Given the description of an element on the screen output the (x, y) to click on. 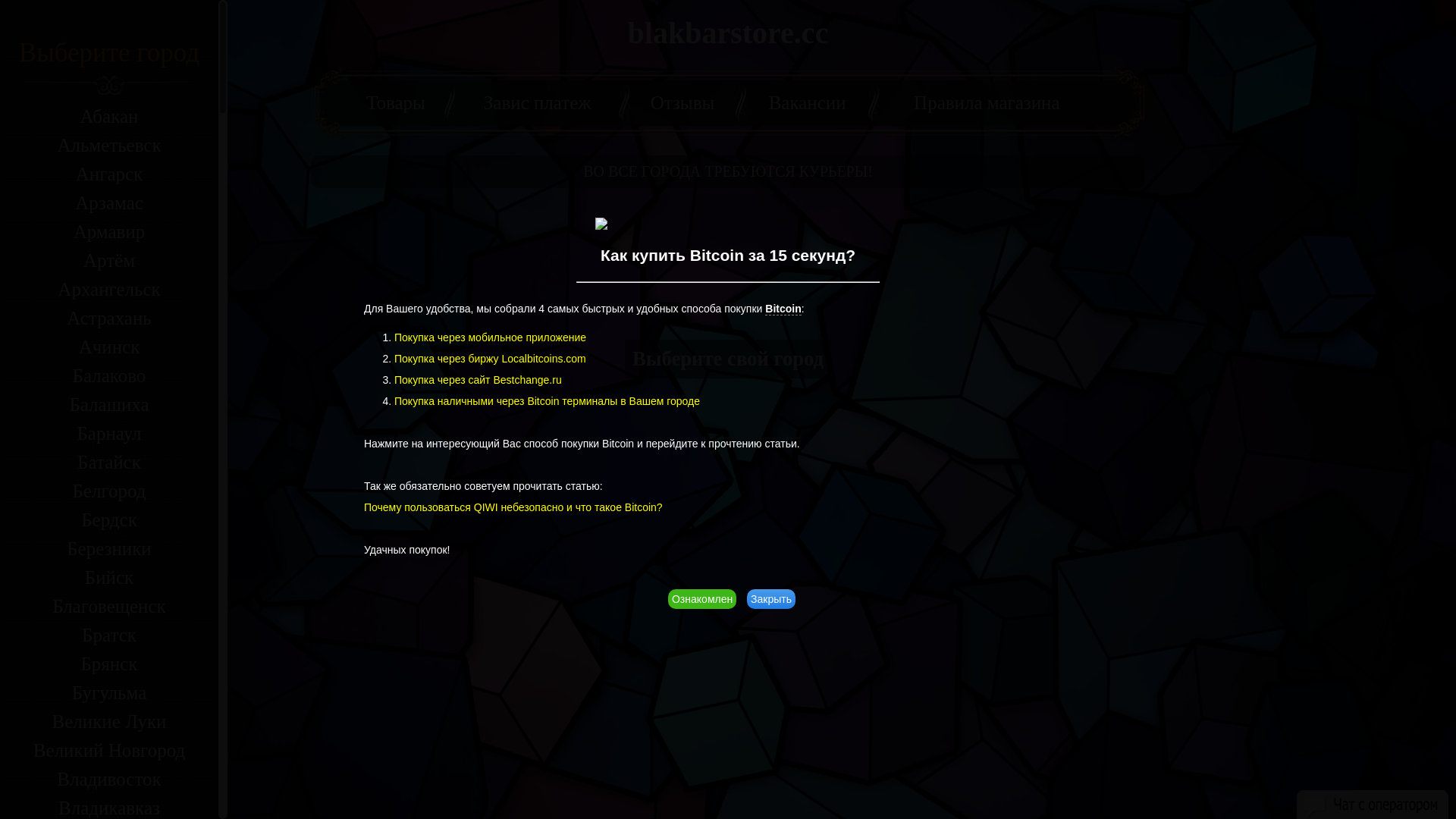
blakbarstore.cc Element type: text (727, 32)
